Given the description of an element on the screen output the (x, y) to click on. 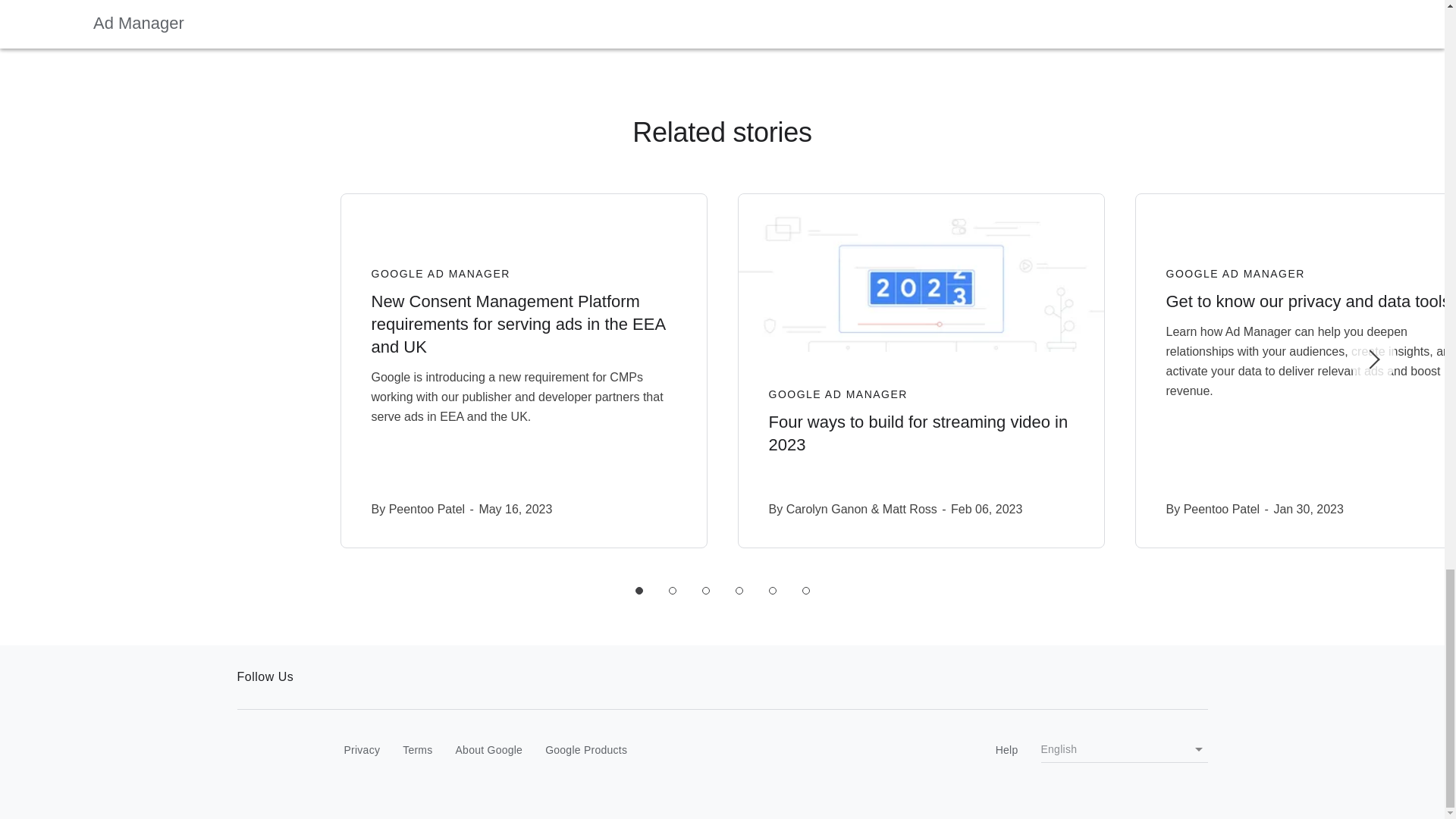
Google (268, 750)
